Given the description of an element on the screen output the (x, y) to click on. 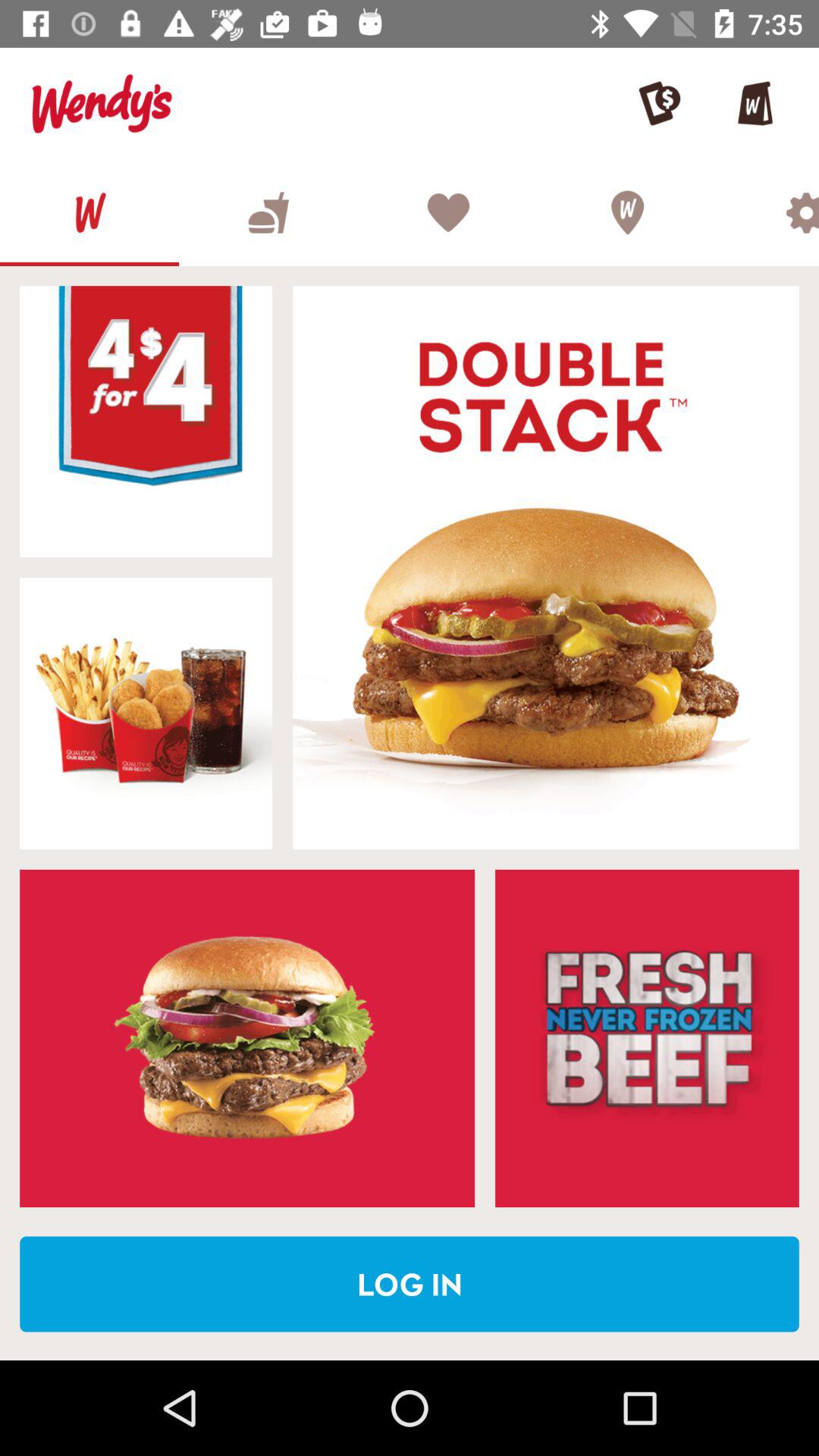
select food item (545, 567)
